Given the description of an element on the screen output the (x, y) to click on. 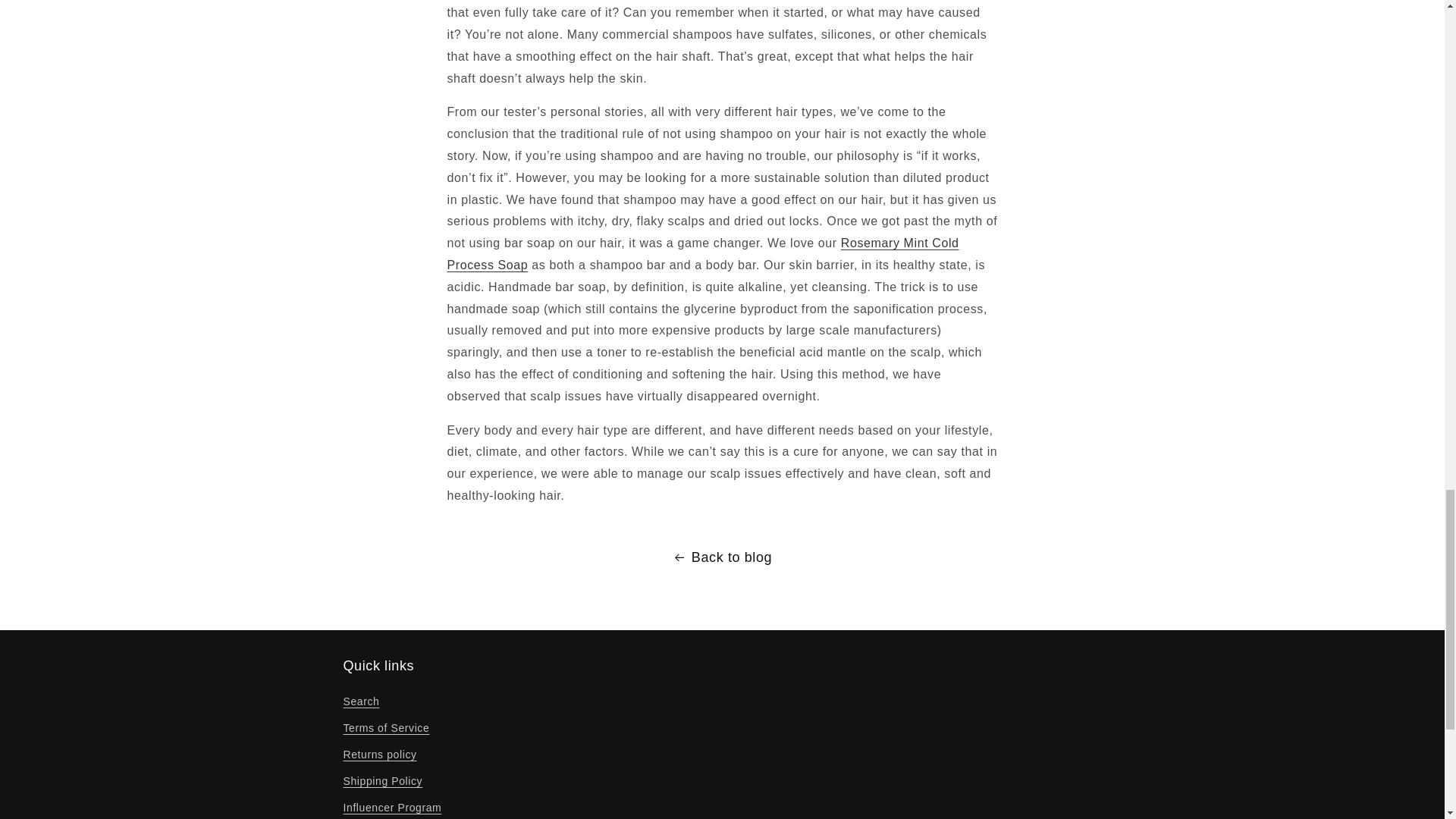
Rosemary Mint Cold Process Soap (702, 253)
Rosemary Mint Cold Process Soap and Shampoo Bar (702, 253)
Returns policy (379, 755)
Influencer Program (391, 806)
Shipping Policy (382, 781)
Search (360, 703)
Terms of Service (385, 728)
